Given the description of an element on the screen output the (x, y) to click on. 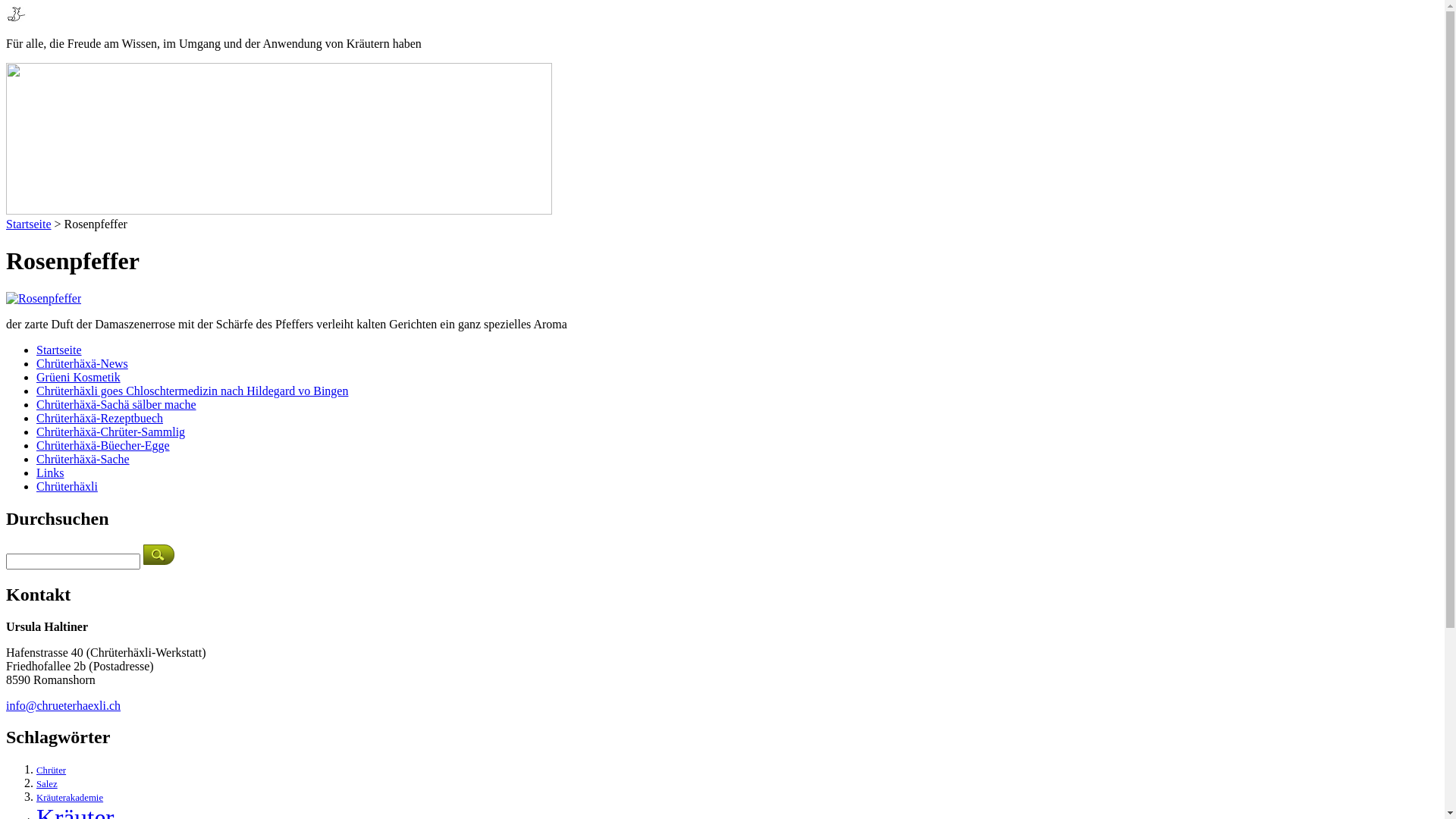
Startseite Element type: text (58, 349)
Links Element type: text (49, 472)
Suchen Element type: hover (158, 554)
info@chrueterhaexli.ch Element type: text (63, 705)
Zur Startseite Element type: hover (16, 17)
Salez Element type: text (46, 783)
Startseite Element type: text (28, 223)
Die Seite wird in einem neuen Fenster angezeigt. Element type: hover (43, 297)
